Given the description of an element on the screen output the (x, y) to click on. 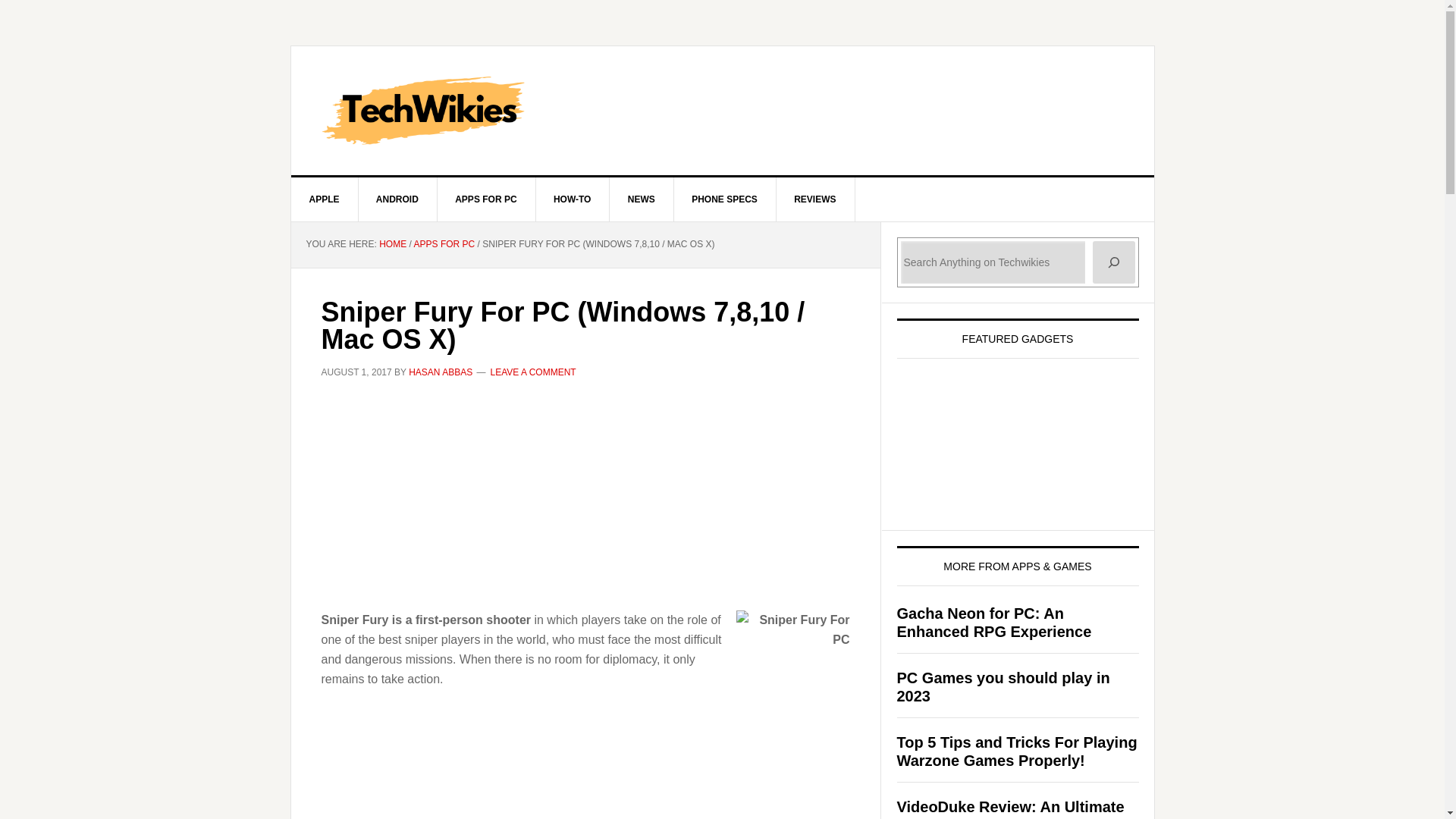
HASAN ABBAS (440, 371)
HOME (392, 244)
LEAVE A COMMENT (533, 371)
APPLE (324, 199)
PC Games you should play in 2023 (1002, 686)
Gacha Neon for PC: An Enhanced RPG Experience (993, 622)
APPS FOR PC (444, 244)
Top 5 Tips and Tricks For Playing Warzone Games Properly! (1016, 751)
PHONE SPECS (724, 199)
Advertisement (585, 780)
